Given the description of an element on the screen output the (x, y) to click on. 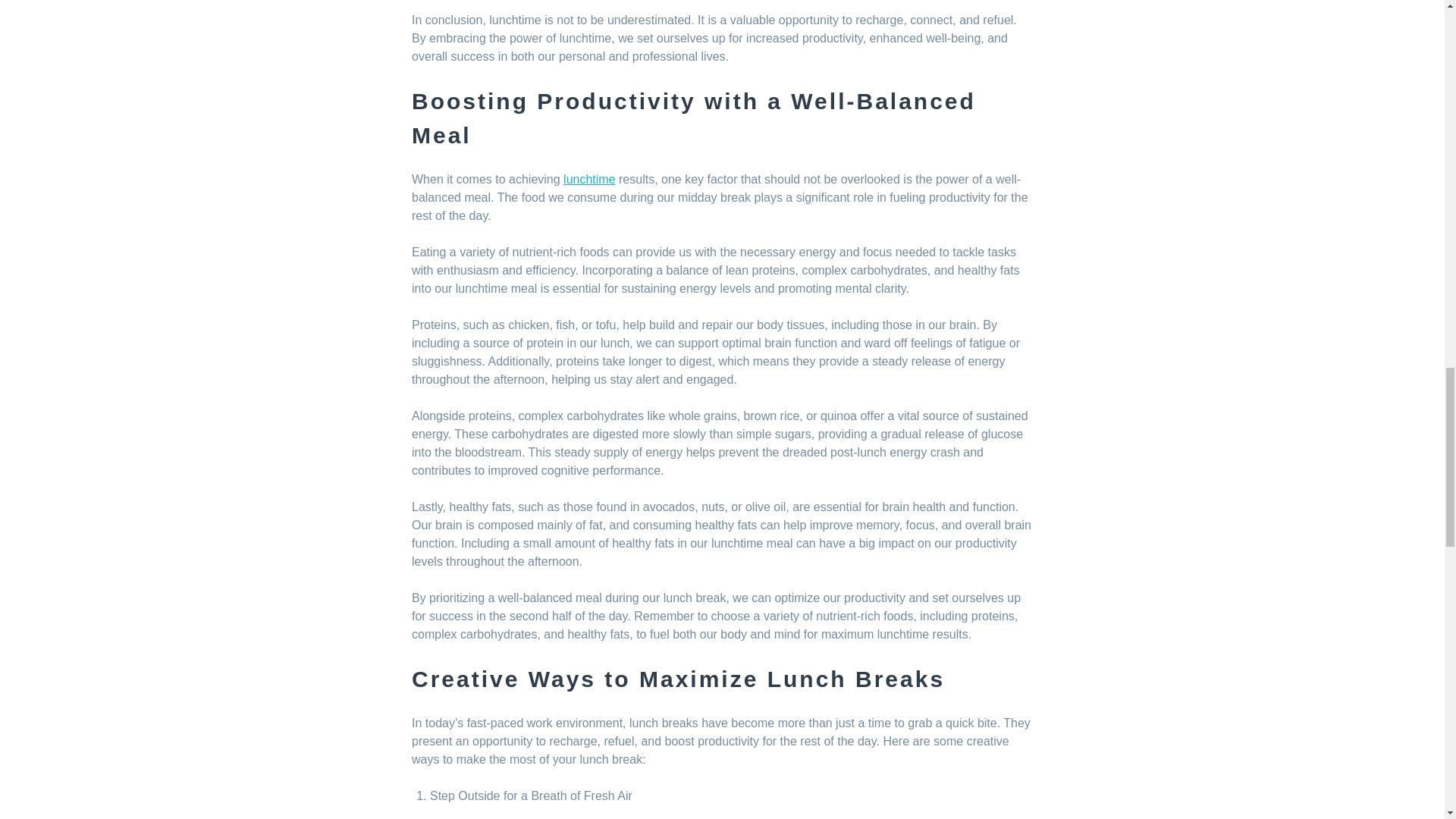
lunchtime (588, 178)
